Given the description of an element on the screen output the (x, y) to click on. 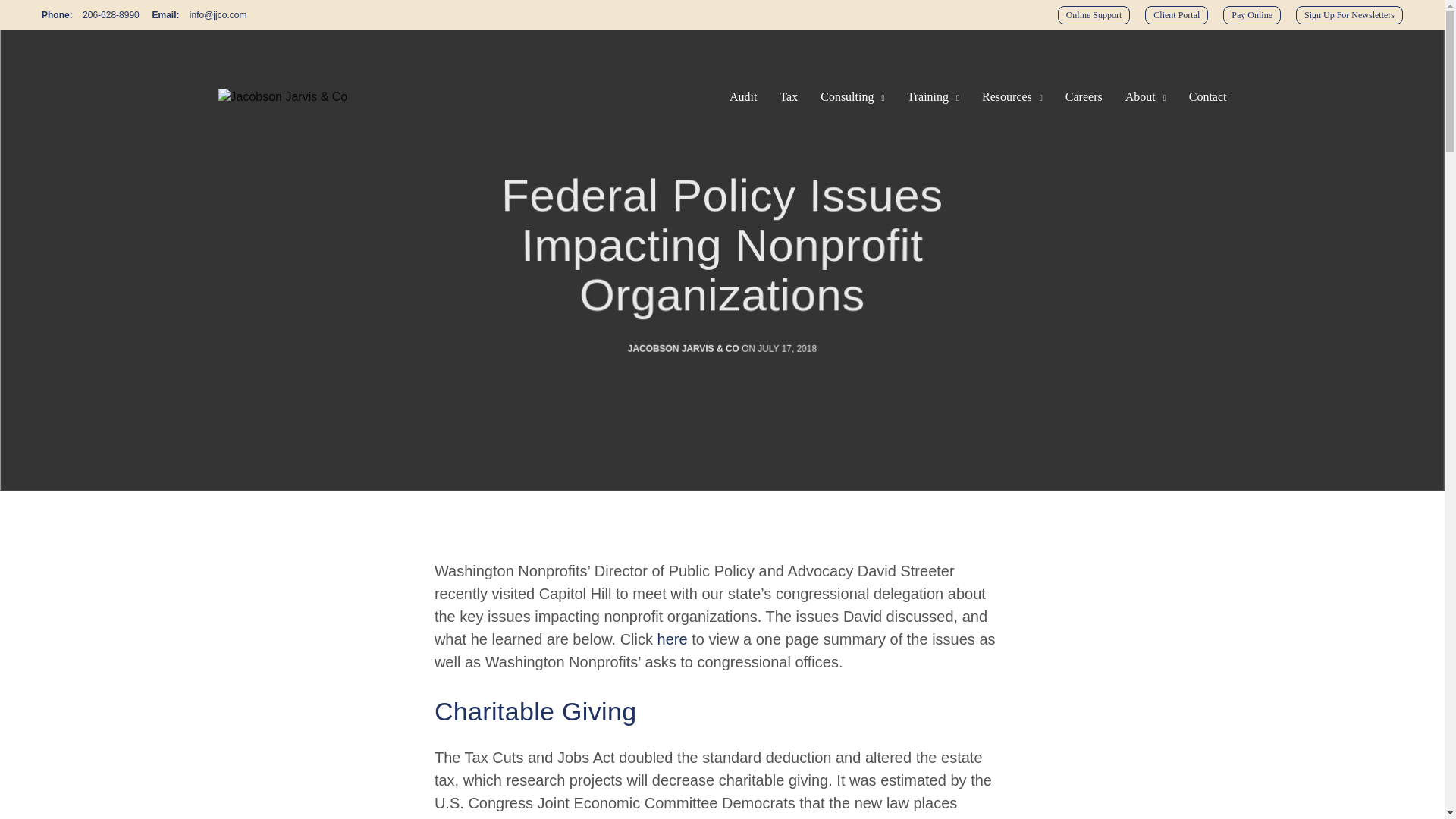
Sign Up For Newsletters (1349, 14)
Contact (1208, 96)
206-628-8990 (111, 14)
Client Portal (1176, 14)
Training (933, 96)
Pay Online (1252, 14)
here (672, 638)
Online Support (1094, 14)
About (1145, 96)
Resources (1011, 96)
